Given the description of an element on the screen output the (x, y) to click on. 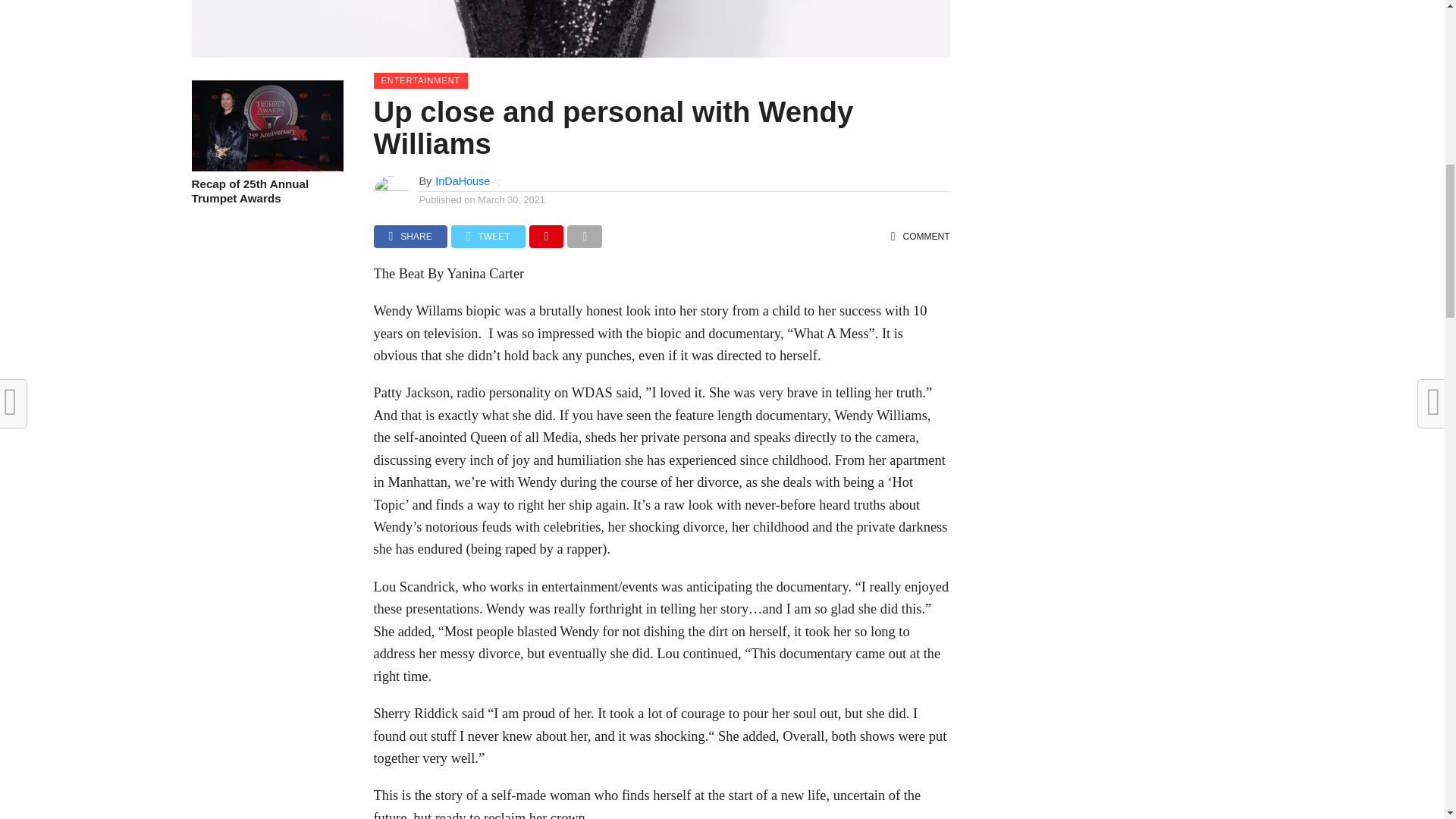
Posts by InDaHouse (462, 181)
Recap of 25th Annual Trumpet Awards (266, 166)
Recap of 25th Annual Trumpet Awards (266, 191)
InDaHouse (462, 181)
